Given the description of an element on the screen output the (x, y) to click on. 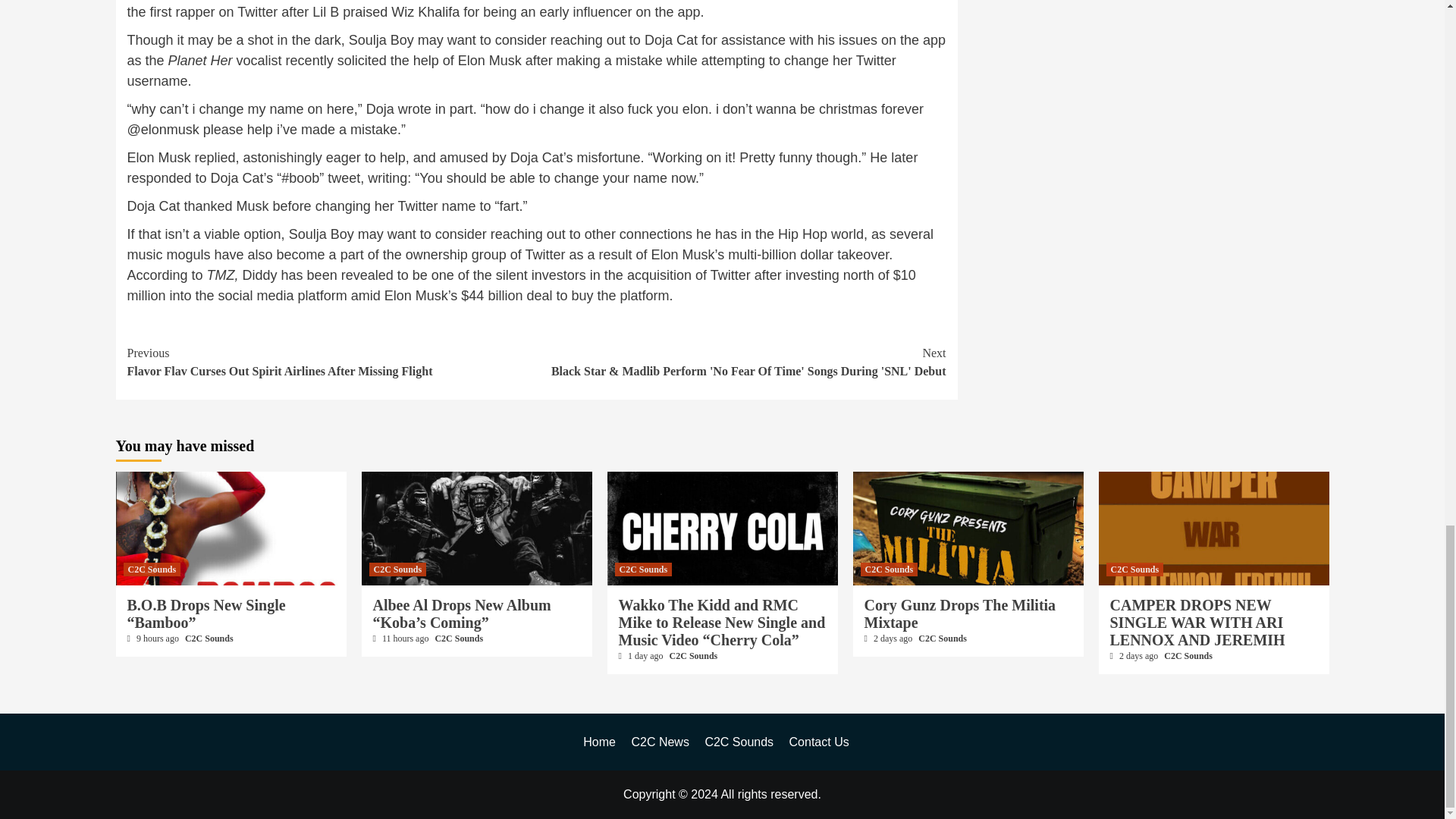
C2C Sounds (397, 569)
C2C Sounds (208, 638)
C2C Sounds (458, 638)
C2C Sounds (151, 569)
